Given the description of an element on the screen output the (x, y) to click on. 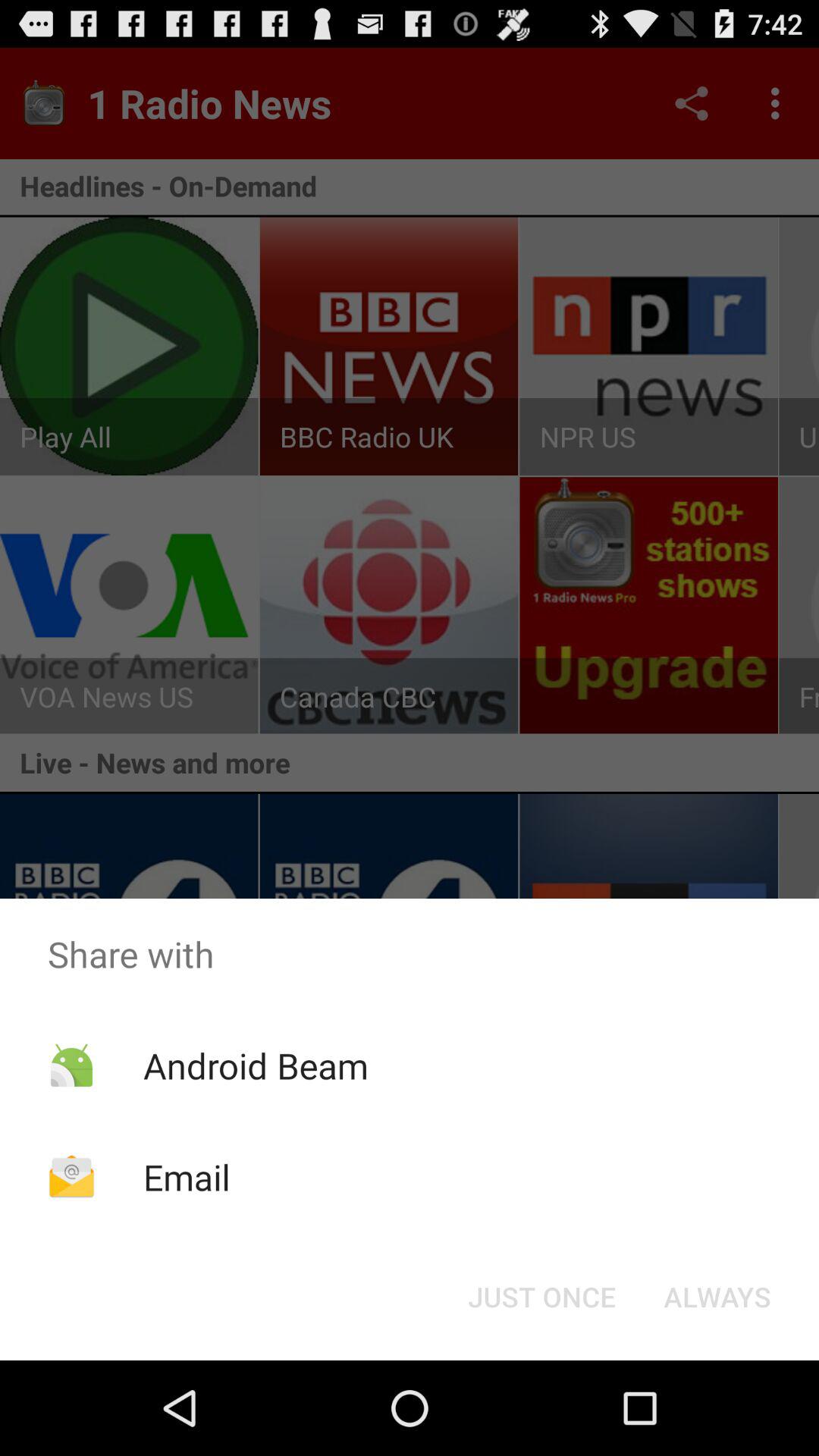
open button to the right of just once button (717, 1296)
